Given the description of an element on the screen output the (x, y) to click on. 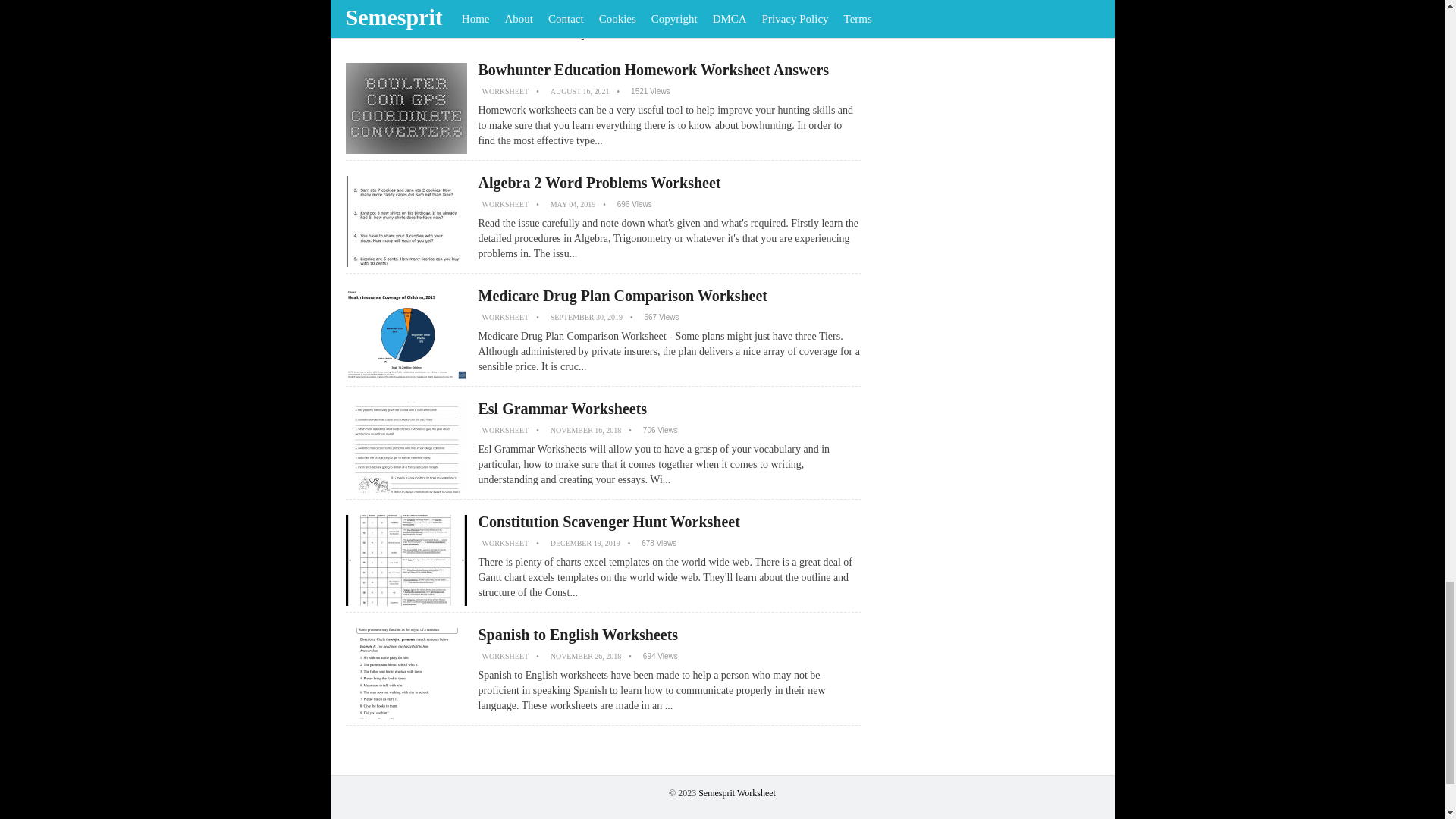
Algebra 2 Word Problems Worksheet (598, 182)
Esl Grammar Worksheets (561, 408)
WORKSHEET (505, 542)
Constitution Scavenger Hunt Worksheet (608, 521)
WORKSHEET (505, 316)
Bowhunter Education Homework Worksheet Answers (652, 69)
WORKSHEET (505, 655)
WORKSHEET (505, 203)
WORKSHEET (505, 429)
Medicare Drug Plan Comparison Worksheet (622, 295)
Spanish to English Worksheets (577, 634)
